Given the description of an element on the screen output the (x, y) to click on. 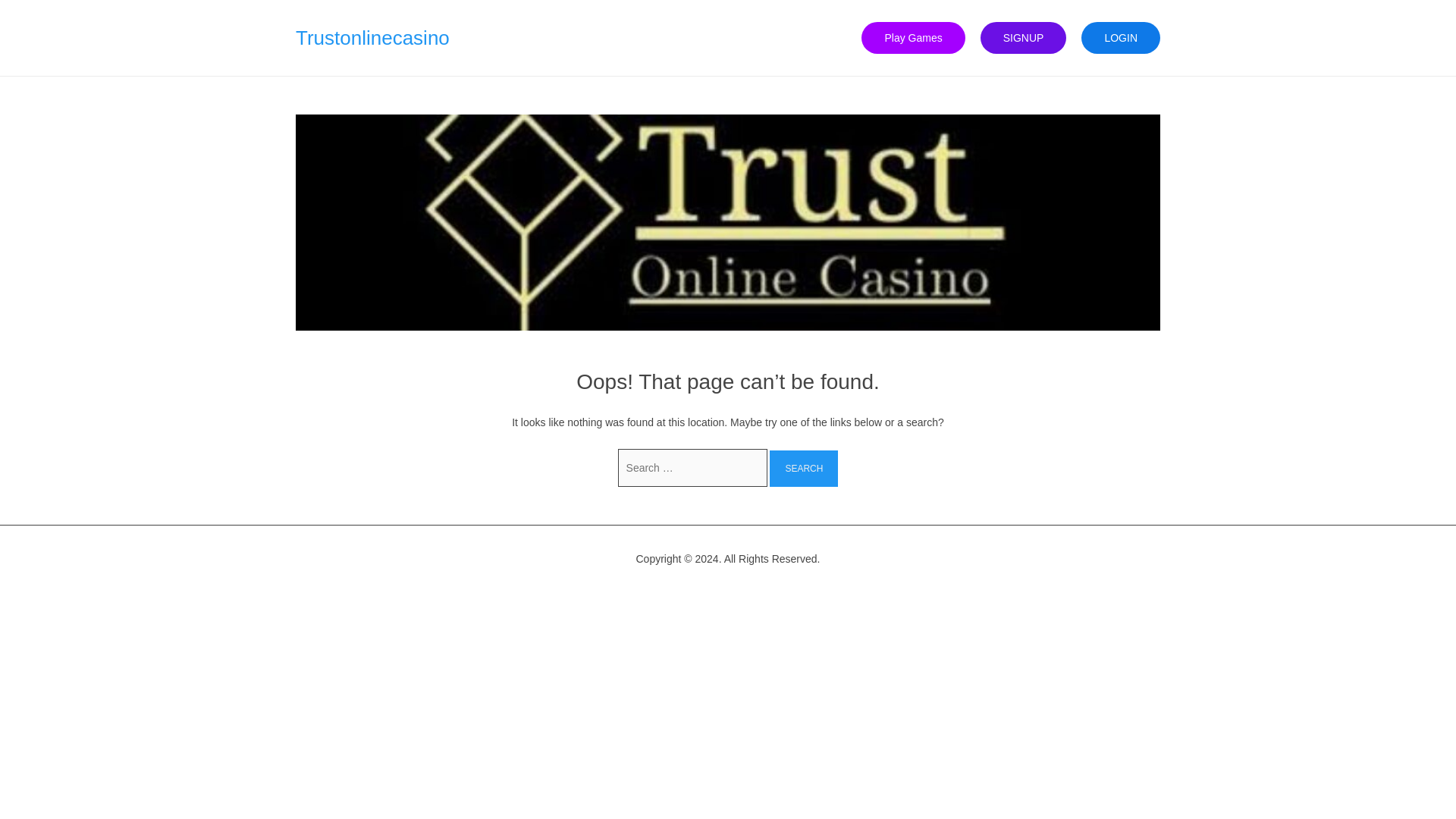
Play Games (912, 38)
LOGIN (1120, 38)
Trustonlinecasino (372, 37)
SIGNUP (1023, 38)
Search (804, 468)
Search (804, 468)
Search (804, 468)
